Given the description of an element on the screen output the (x, y) to click on. 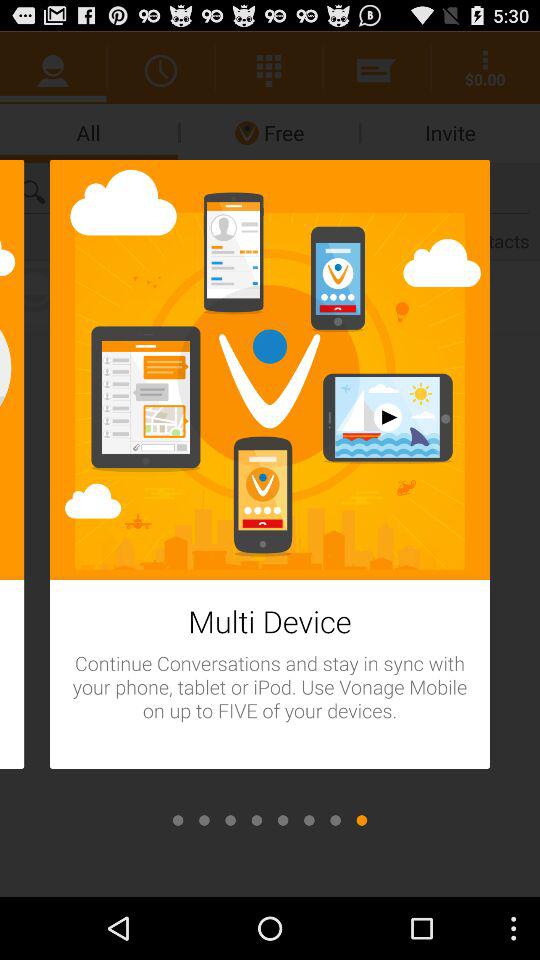
switch to other instructions (309, 820)
